Given the description of an element on the screen output the (x, y) to click on. 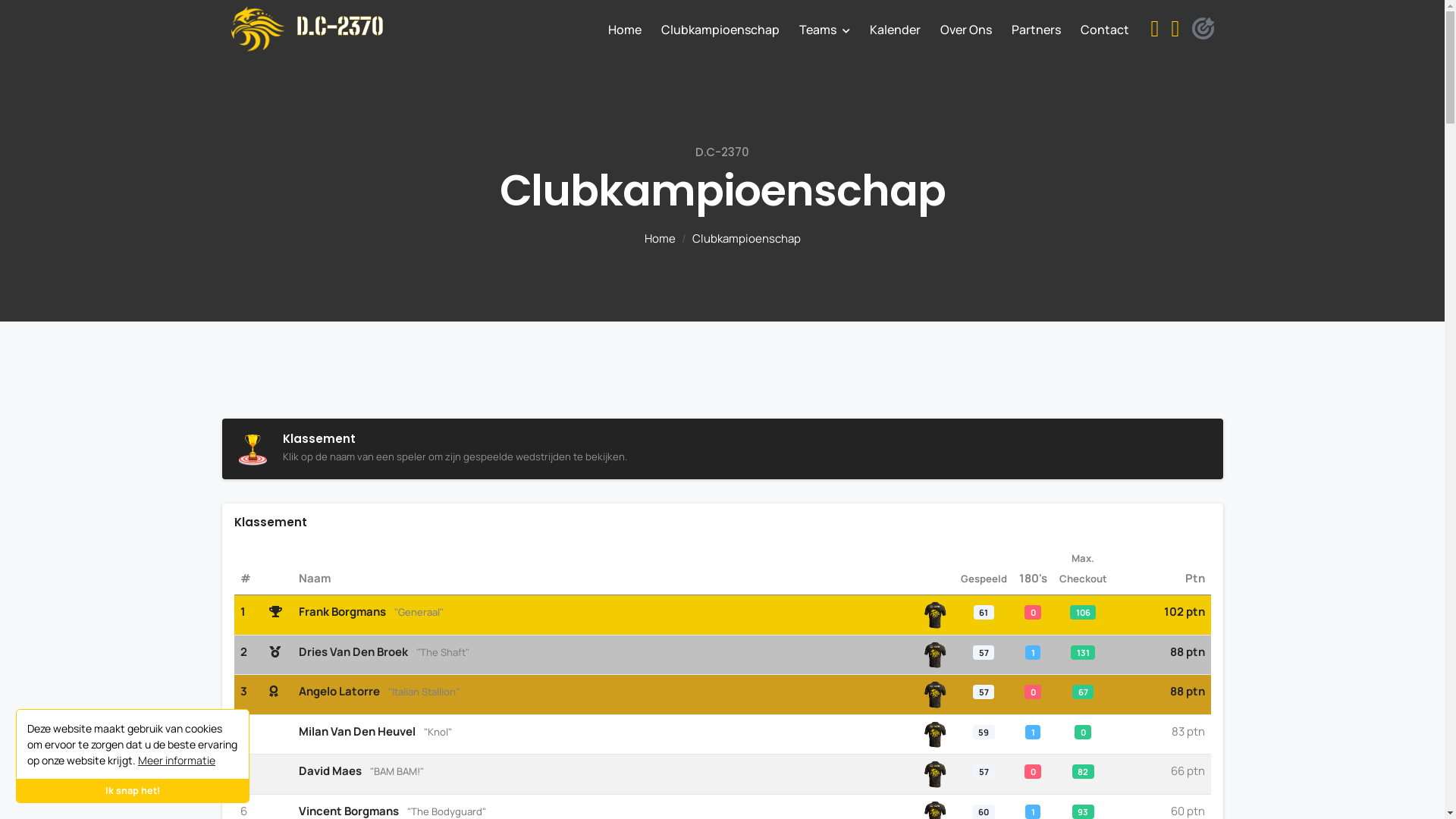
Home Element type: text (659, 238)
Contact Element type: text (1104, 29)
Over Ons Element type: text (965, 29)
David Maes Element type: text (329, 770)
Milan Van Den Heuvel Element type: text (356, 731)
Home Element type: text (624, 29)
Teams Element type: text (824, 29)
Partners Element type: text (1035, 29)
Kalender Element type: text (894, 29)
Frank Borgmans Element type: text (341, 611)
Angelo Latorre Element type: text (338, 691)
Ik snap het! Element type: text (132, 790)
Clubkampioenschap Element type: text (745, 238)
Dries Van Den Broek Element type: text (352, 651)
D.C-2370 Element type: text (306, 29)
Clubkampioenschap Element type: text (720, 29)
Meer informatie Element type: text (176, 760)
